Given the description of an element on the screen output the (x, y) to click on. 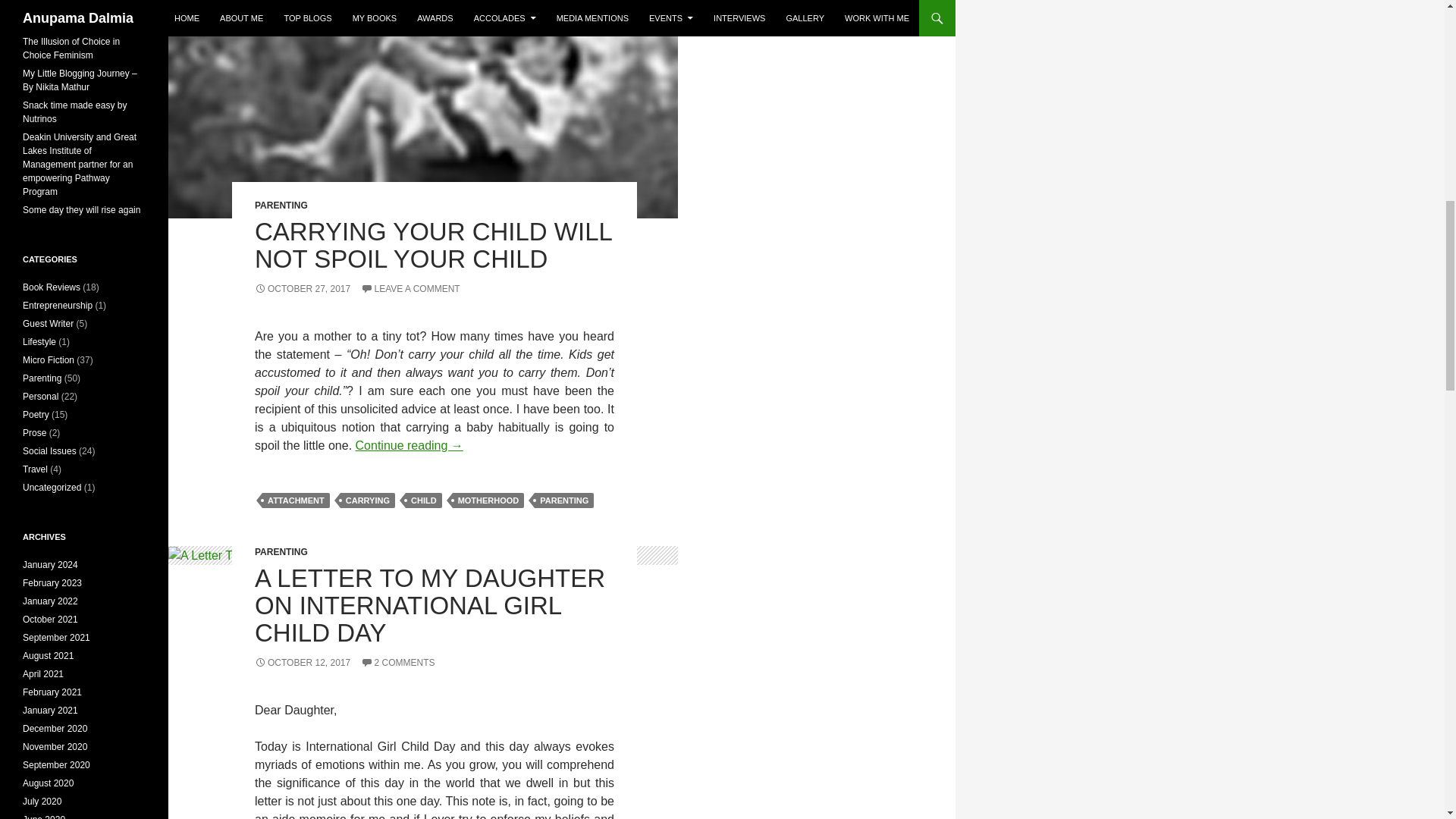
CARRYING YOUR CHILD WILL NOT SPOIL YOUR CHILD (432, 244)
ATTACHMENT (296, 500)
PARENTING (280, 204)
LEAVE A COMMENT (410, 288)
OCTOBER 27, 2017 (302, 288)
